Given the description of an element on the screen output the (x, y) to click on. 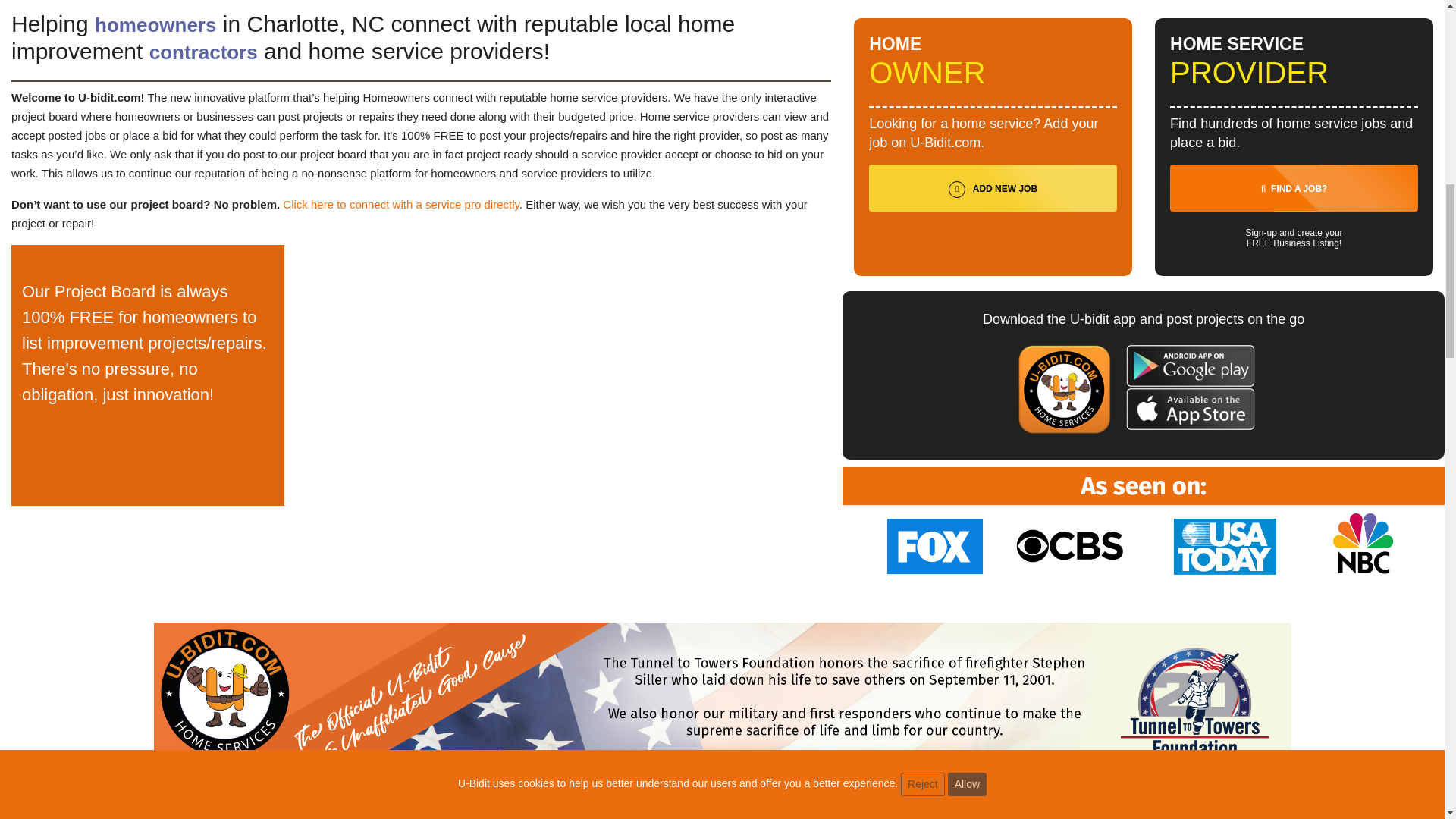
  ADD NEW JOB (992, 187)
Click here to connect with a service pro directly (400, 204)
  FIND A JOB? (1294, 187)
